Given the description of an element on the screen output the (x, y) to click on. 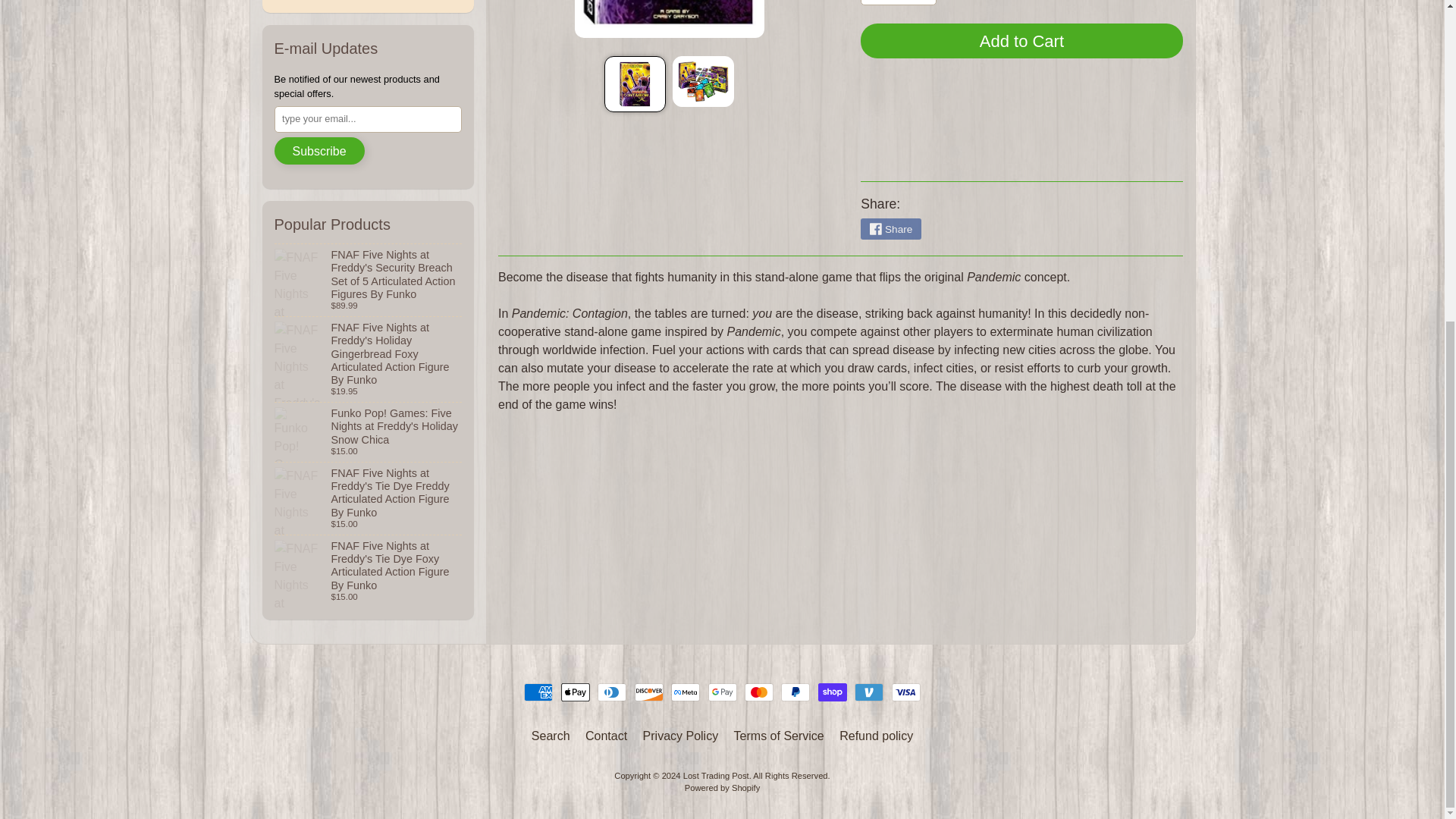
Visa (905, 692)
Pandemic: Contagion Expansion (702, 81)
1 (898, 2)
Shop Pay (832, 692)
Discover (648, 692)
Funko Pop! Games: Five Nights at Freddy's Holiday Snow Chica (369, 431)
Meta Pay (685, 692)
Apple Pay (574, 692)
Google Pay (721, 692)
PayPal (794, 692)
Share on Facebook (890, 228)
American Express (538, 692)
